Given the description of an element on the screen output the (x, y) to click on. 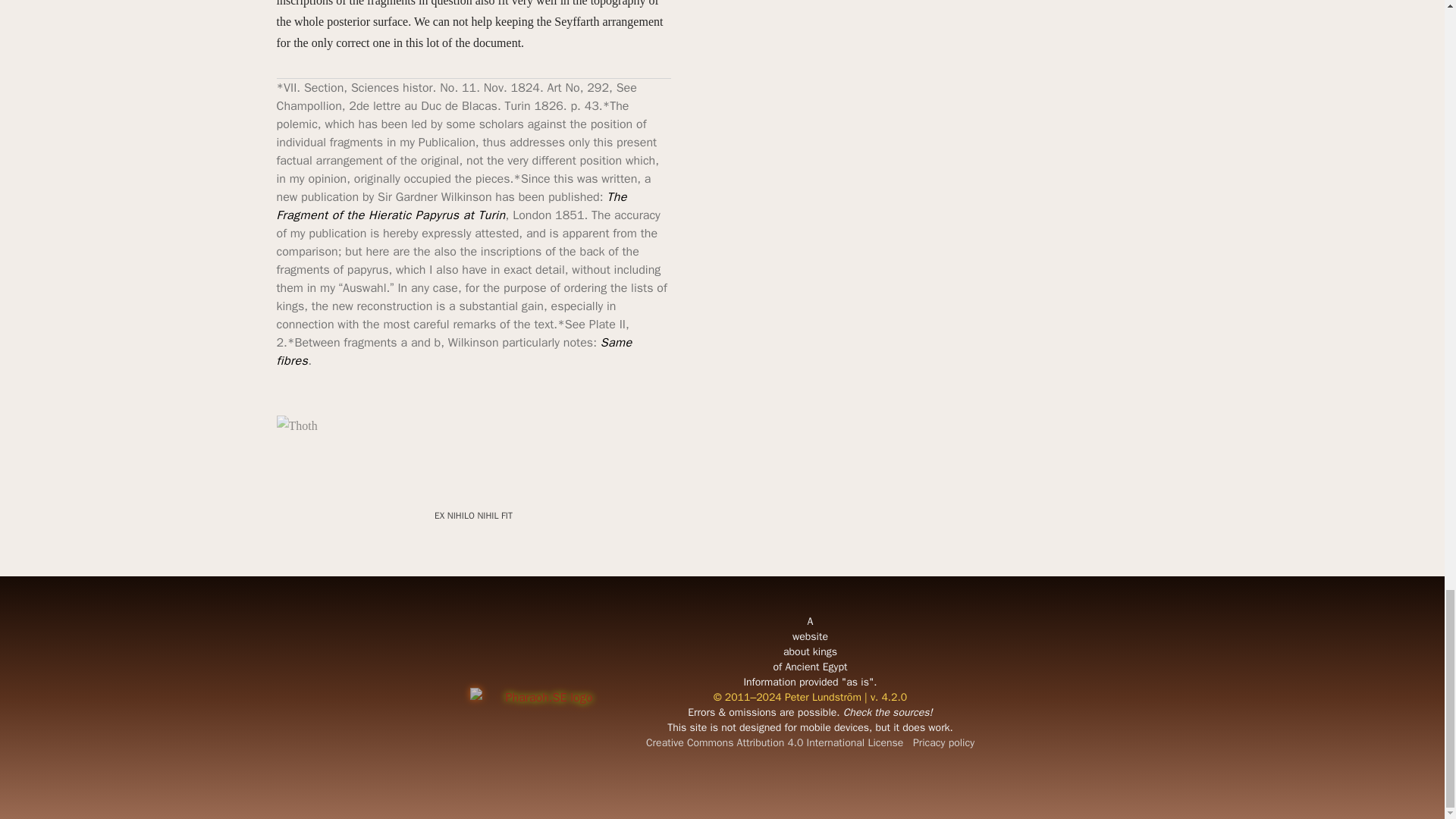
To the start of Pharaoh.SE (542, 697)
Latin for: Nothing comes from nothing (472, 515)
